Given the description of an element on the screen output the (x, y) to click on. 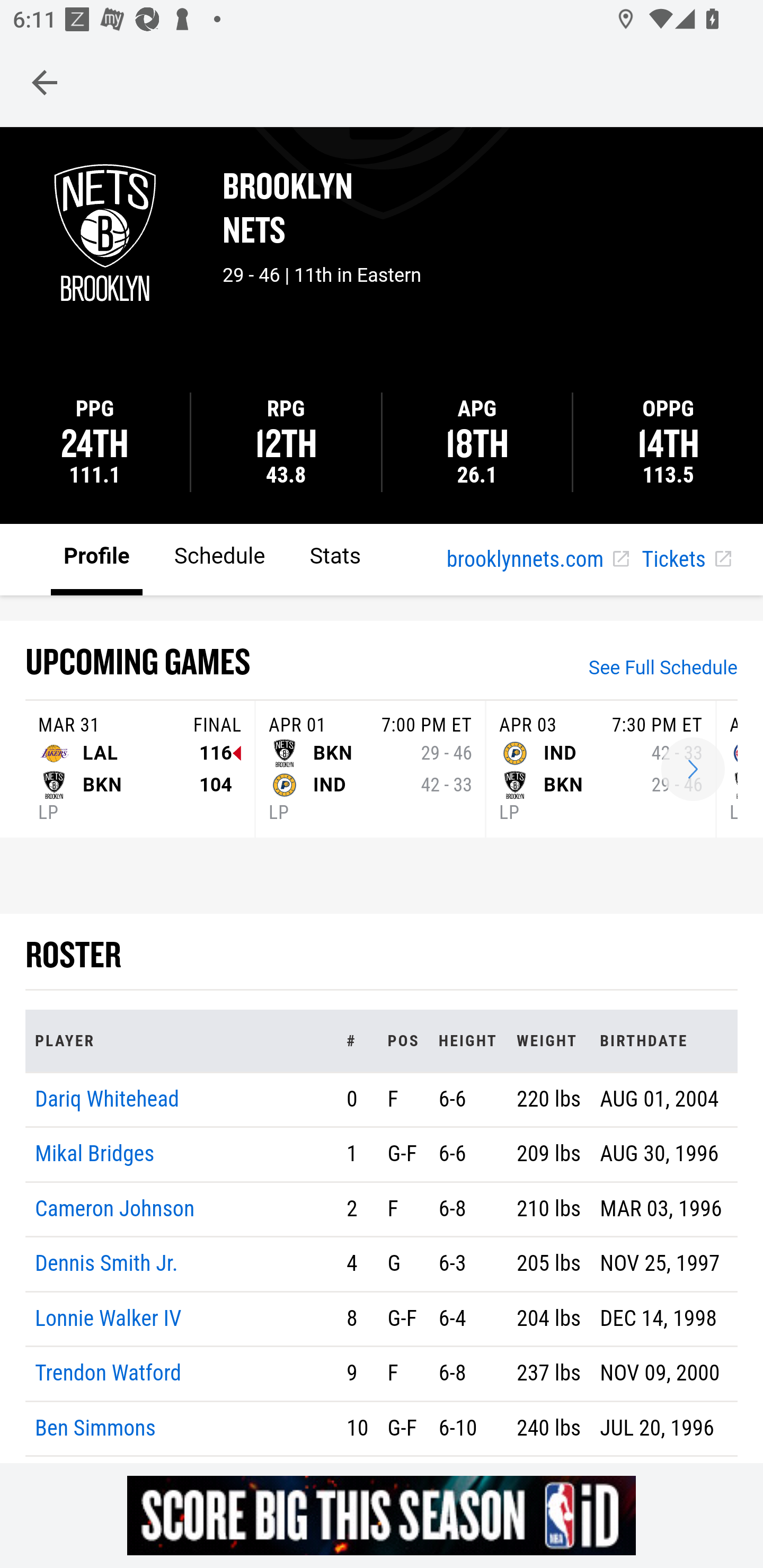
Navigate up (44, 82)
Profile (97, 558)
Schedule (219, 558)
Stats (335, 558)
brooklynnets.com (536, 560)
Tickets (685, 560)
See Full Schedule (662, 669)
Match-up Scores (692, 769)
Dariq Whitehead (107, 1098)
Mikal Bridges (95, 1154)
Cameron Johnson (115, 1207)
Dennis Smith Jr. (106, 1264)
Lonnie Walker IV (109, 1317)
Trendon Watford (109, 1374)
Ben Simmons (95, 1427)
g5nqqygr7owph (381, 1515)
